Given the description of an element on the screen output the (x, y) to click on. 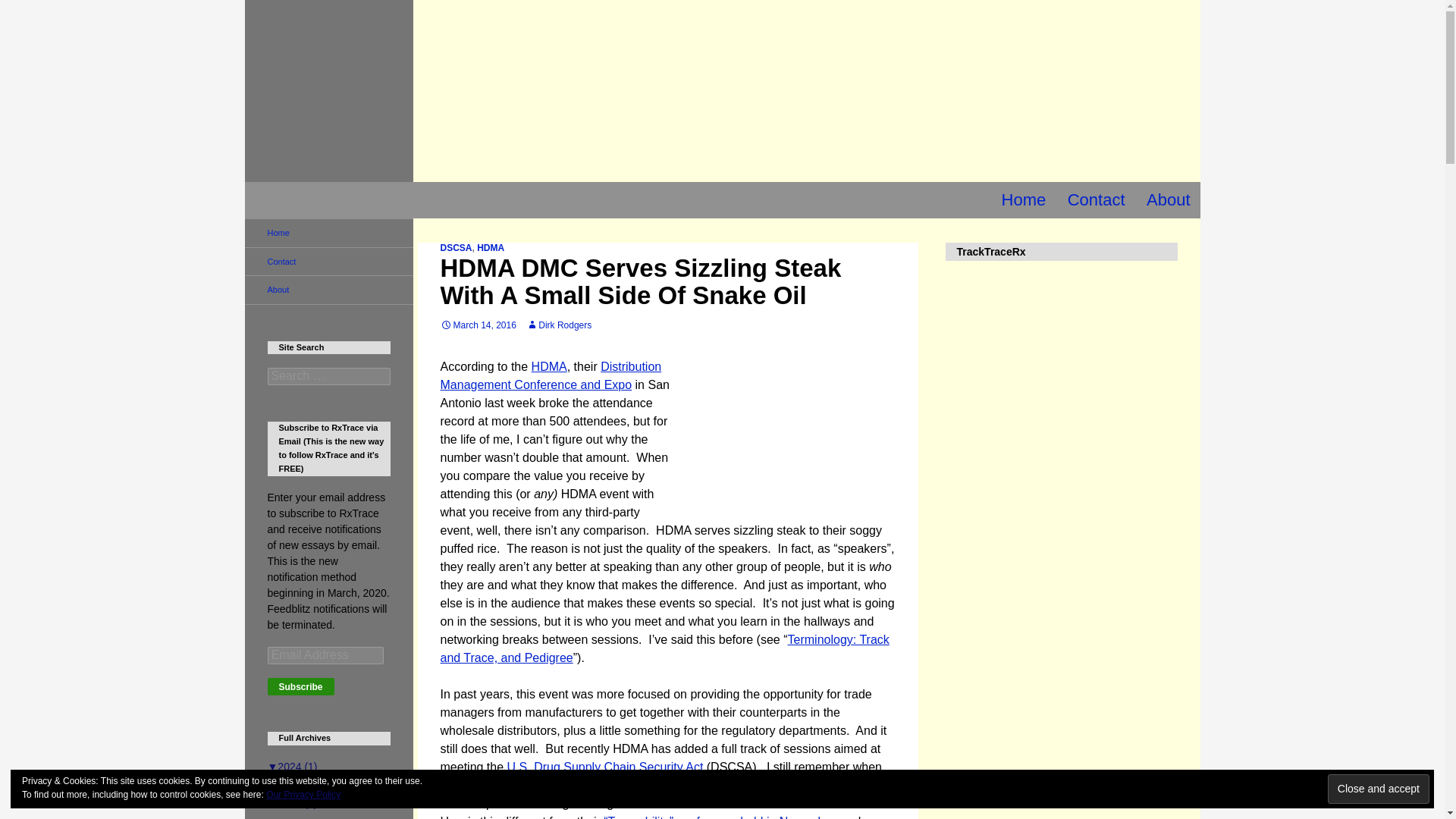
HDMA (549, 366)
Dirk Rodgers (558, 325)
March 14, 2016 (477, 325)
Home (1023, 199)
Terminology: Track and Trace, and Pedigree (663, 648)
2021 (291, 802)
DSCSA (455, 247)
RxTrace (322, 199)
Contact (1096, 199)
2024 (291, 766)
HDMA (490, 247)
Close and accept (1378, 788)
Jun (295, 782)
Distribution Management Conference and Expo (550, 375)
